Given the description of an element on the screen output the (x, y) to click on. 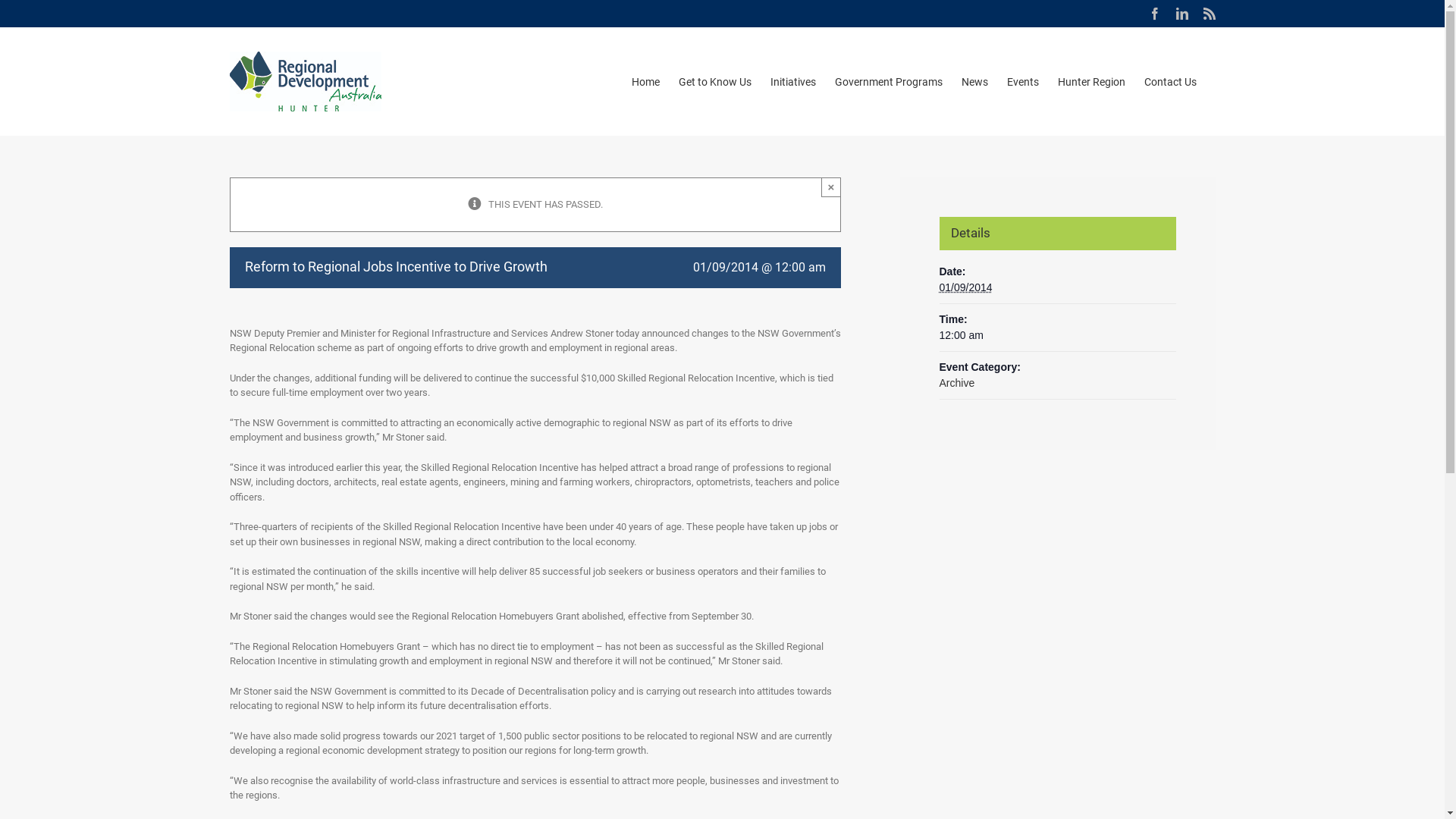
Facebook Element type: text (1154, 13)
Hunter Region Element type: text (1090, 81)
Events Element type: text (1022, 81)
LinkedIn Element type: text (1181, 13)
Archive Element type: text (956, 382)
Contact Us Element type: text (1169, 81)
Government Programs Element type: text (887, 81)
Initiatives Element type: text (792, 81)
Rss Element type: text (1208, 13)
Get to Know Us Element type: text (713, 81)
News Element type: text (974, 81)
Home Element type: text (644, 81)
